Given the description of an element on the screen output the (x, y) to click on. 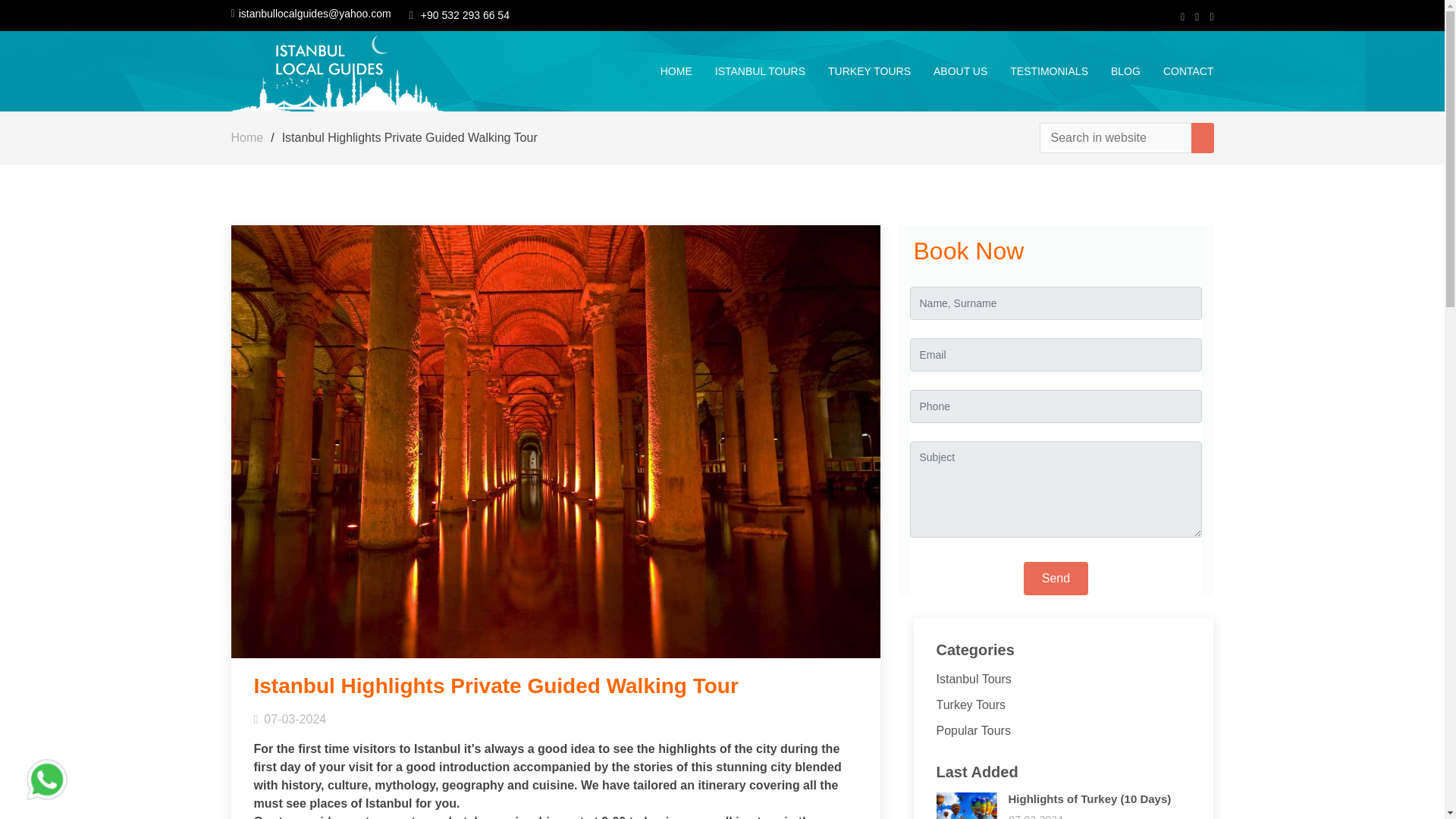
Istanbul Tours (973, 678)
TURKEY TOURS (858, 71)
Istanbul Local Guides (337, 69)
HOME (665, 71)
ISTANBUL TOURS (749, 71)
Turkey Tours (971, 704)
CONTACT (1177, 71)
ABOUT US (949, 71)
BLOG (1113, 71)
Send (1055, 578)
Home (246, 137)
TESTIMONIALS (1037, 71)
Popular Tours (973, 730)
